Given the description of an element on the screen output the (x, y) to click on. 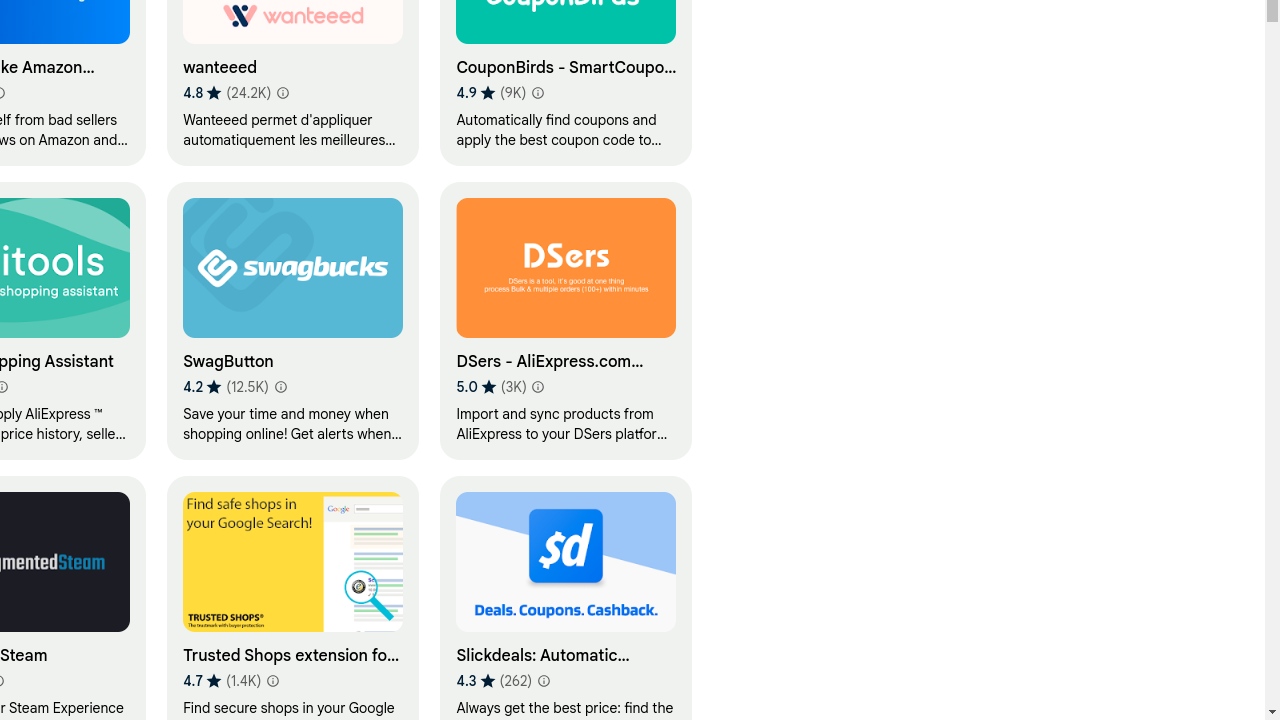
SwagButton Element type: link (293, 320)
DSers - AliExpress.com Product Importer Element type: link (566, 320)
Learn more about results and reviews "Trusted Shops extension for Google Chrome" Element type: push-button (273, 681)
Learn more about results and reviews "Slickdeals: Automatic Coupons and Deals" Element type: push-button (543, 681)
Learn more about results and reviews "SwagButton" Element type: push-button (280, 387)
